Given the description of an element on the screen output the (x, y) to click on. 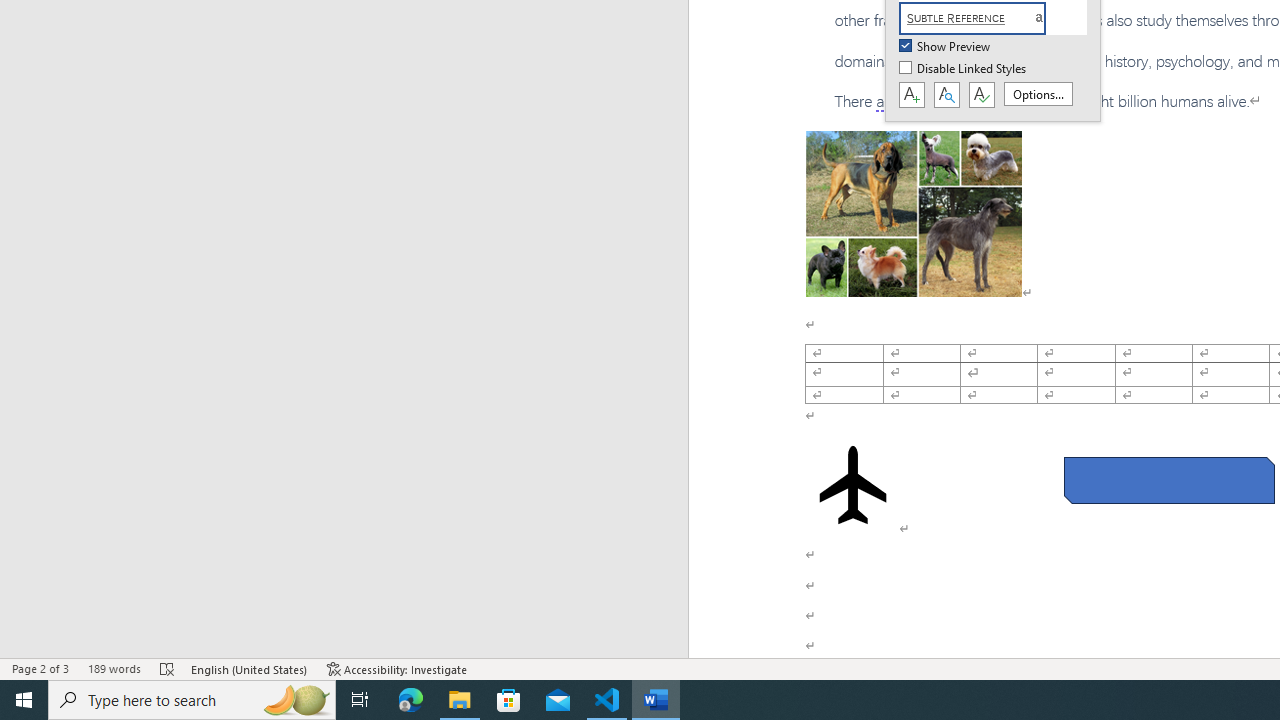
Disable Linked Styles (964, 69)
Page Number Page 2 of 3 (39, 668)
Airplane with solid fill (852, 484)
Options... (1037, 93)
Subtle Reference (984, 18)
Class: NetUIButton (981, 95)
Rectangle: Diagonal Corners Snipped 2 (1168, 480)
Show Preview (946, 47)
